Given the description of an element on the screen output the (x, y) to click on. 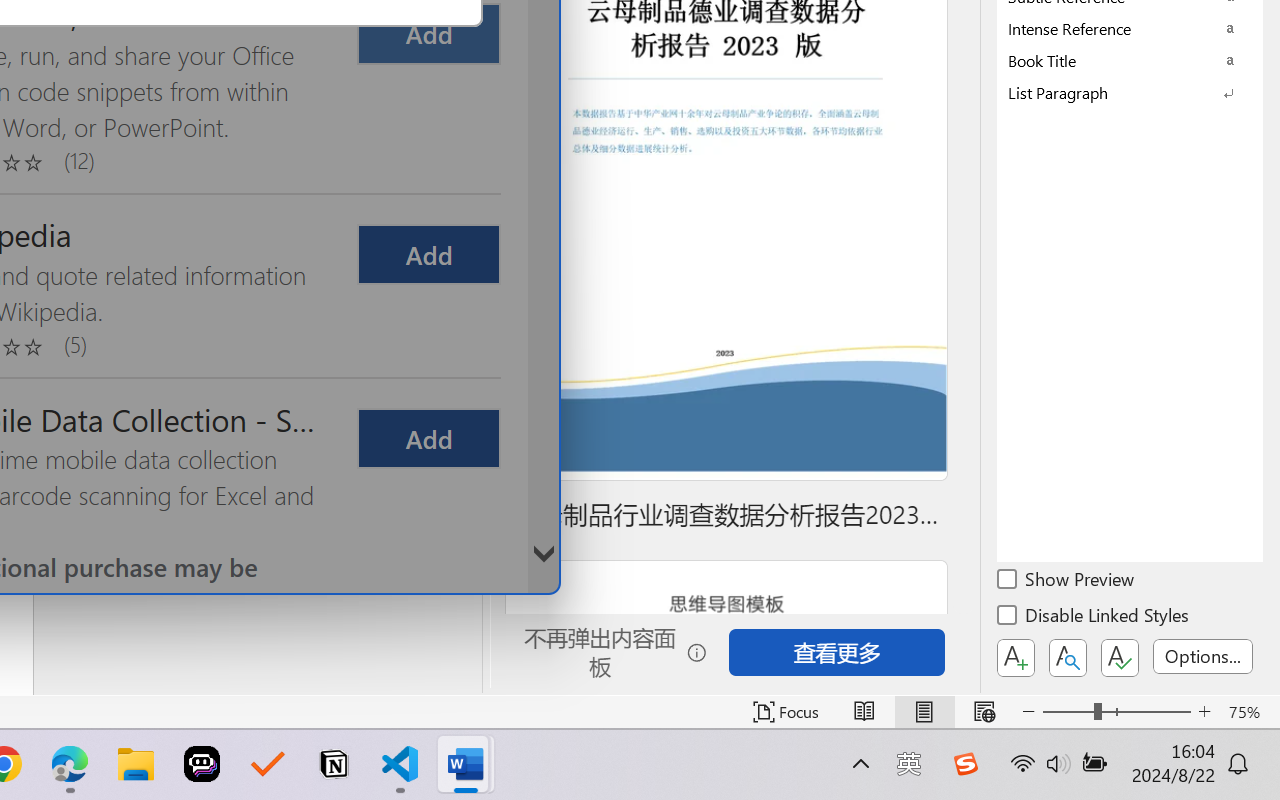
Options... (1203, 656)
Intense Reference (1130, 28)
Show Preview (1067, 582)
Disable Linked Styles (1094, 618)
Zoom In (1204, 712)
Class: NetUIButton (1119, 657)
